Given the description of an element on the screen output the (x, y) to click on. 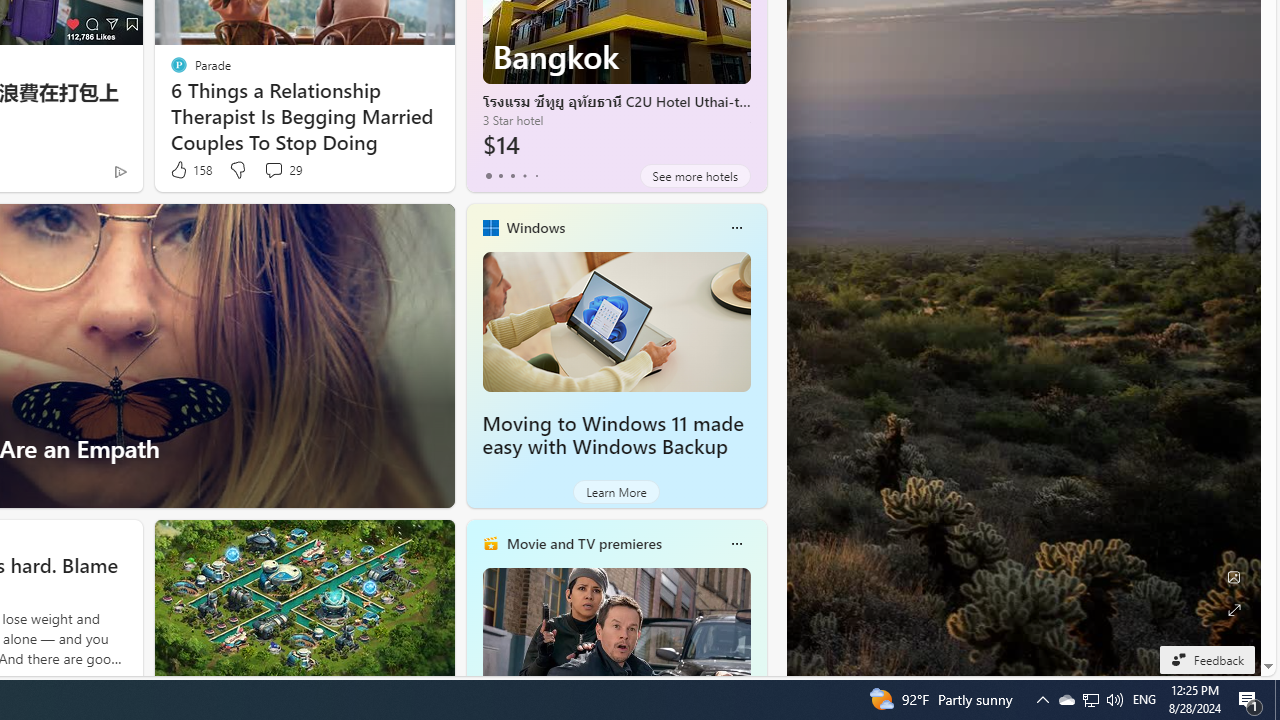
Moving to Windows 11 made easy with Windows Backup (616, 321)
tab-4 (535, 175)
Expand background (1233, 610)
158 Like (190, 170)
tab-2 (511, 175)
Dislike (237, 170)
tab-3 (524, 175)
Movie and TV premieres (583, 543)
See more hotels (694, 175)
Class: icon-img (736, 543)
View comments 29 Comment (273, 169)
View comments 29 Comment (281, 170)
